Given the description of an element on the screen output the (x, y) to click on. 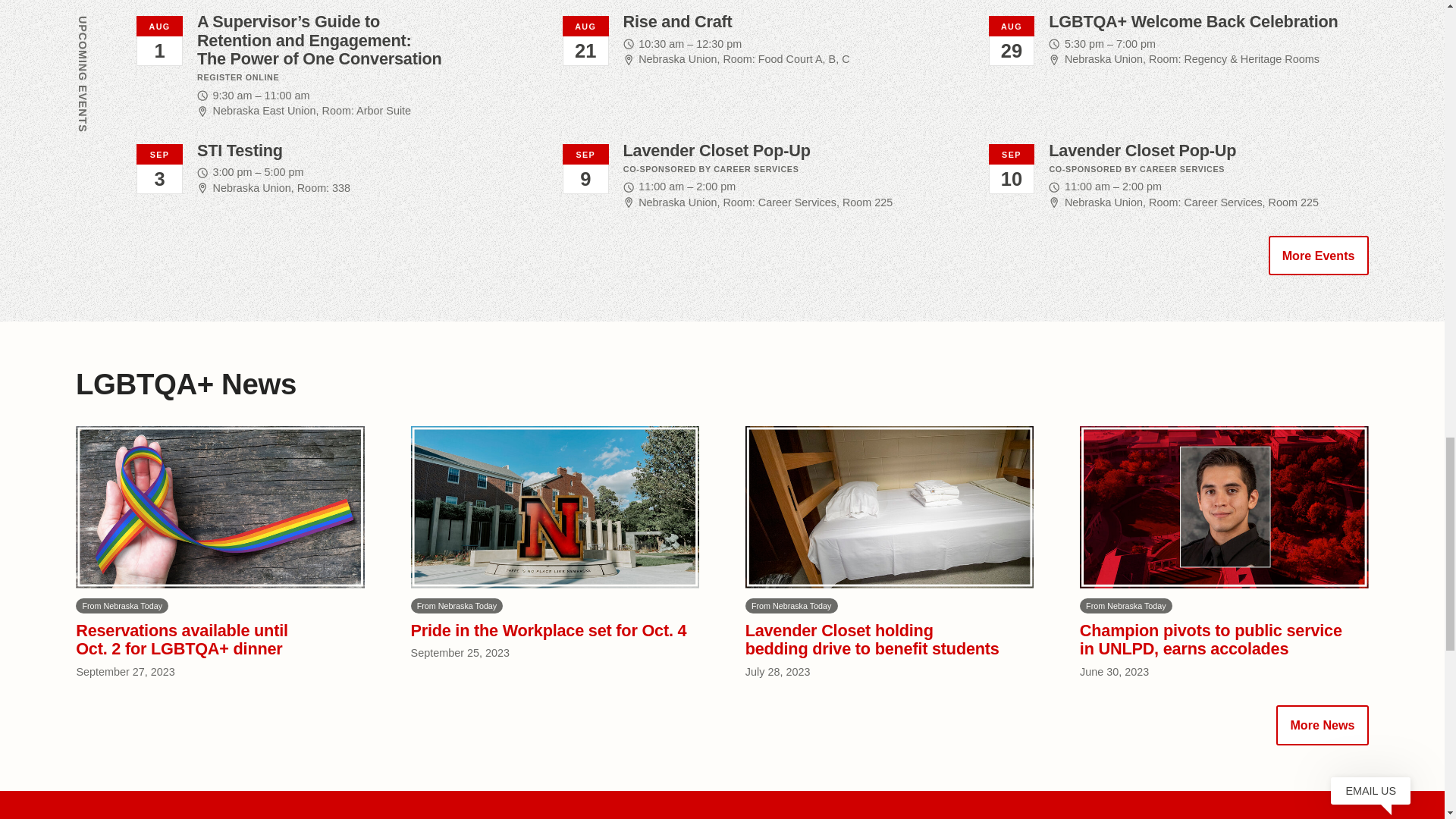
Rise and Craft (677, 21)
Nebraska Union (677, 59)
Nebraska Union (251, 187)
Pride in the Workplace set for Oct. 4 (547, 629)
Nebraska Union (1103, 59)
Nebraska Union (677, 202)
Lavender Closet Pop-Up (716, 149)
Nebraska East Union (263, 110)
Lavender Closet Pop-Up (1142, 149)
More Events (1318, 255)
Nebraska Union (1103, 202)
STI Testing (239, 149)
